Given the description of an element on the screen output the (x, y) to click on. 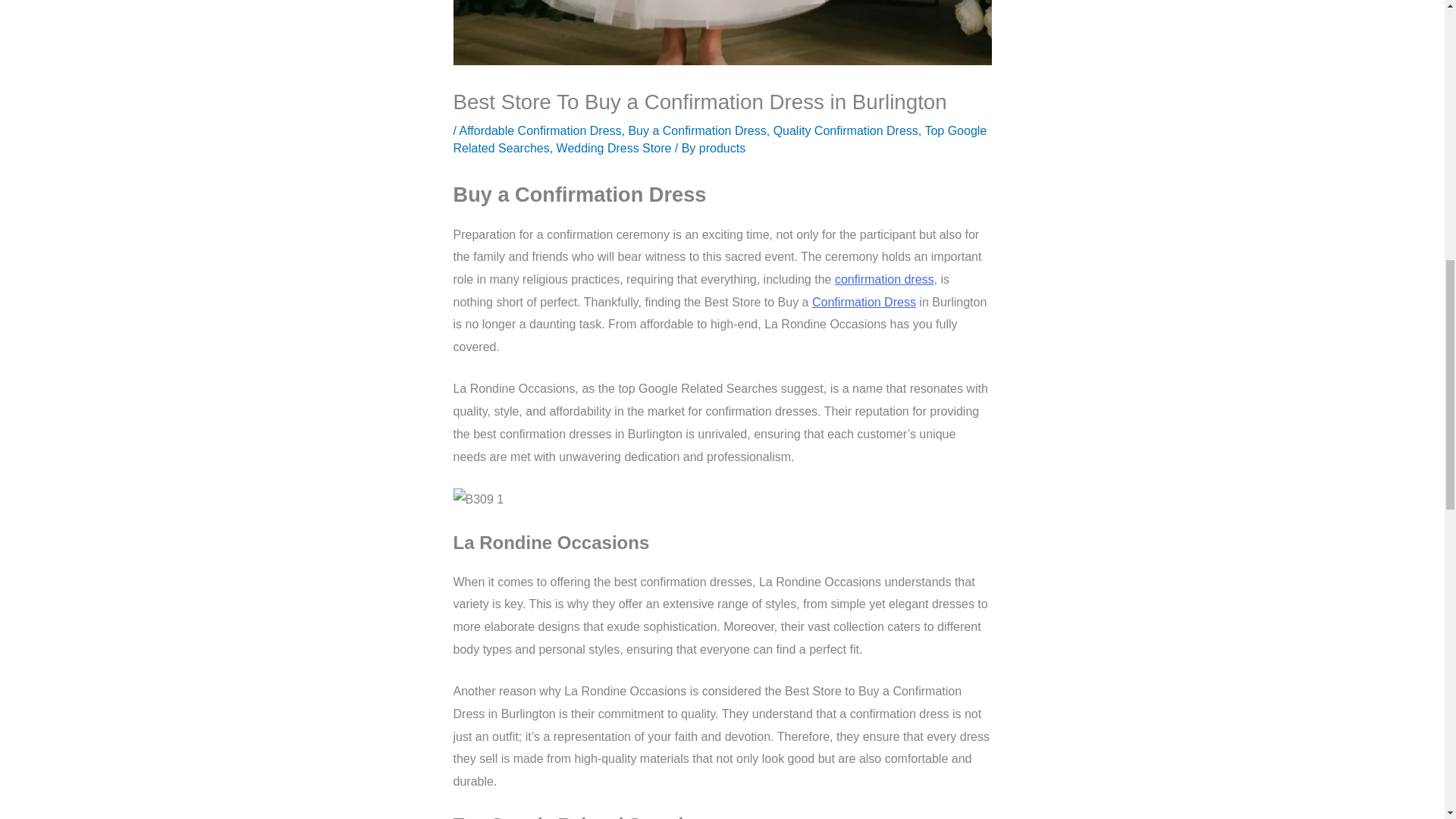
confirmation dress (863, 301)
B309 1 (477, 499)
confirmation dress (884, 278)
View all posts by products (721, 147)
